Given the description of an element on the screen output the (x, y) to click on. 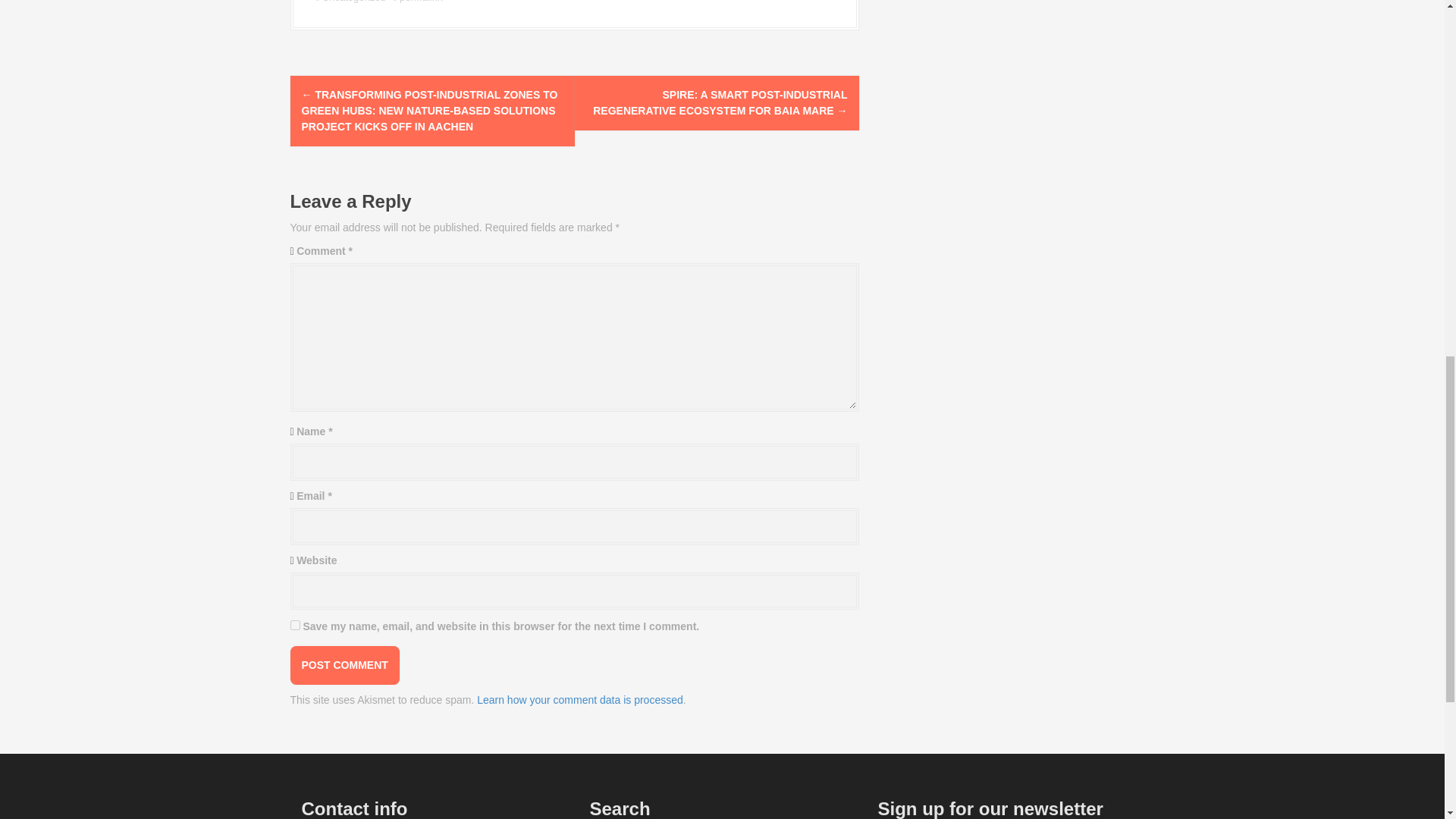
yes (294, 624)
Post Comment (343, 665)
